Given the description of an element on the screen output the (x, y) to click on. 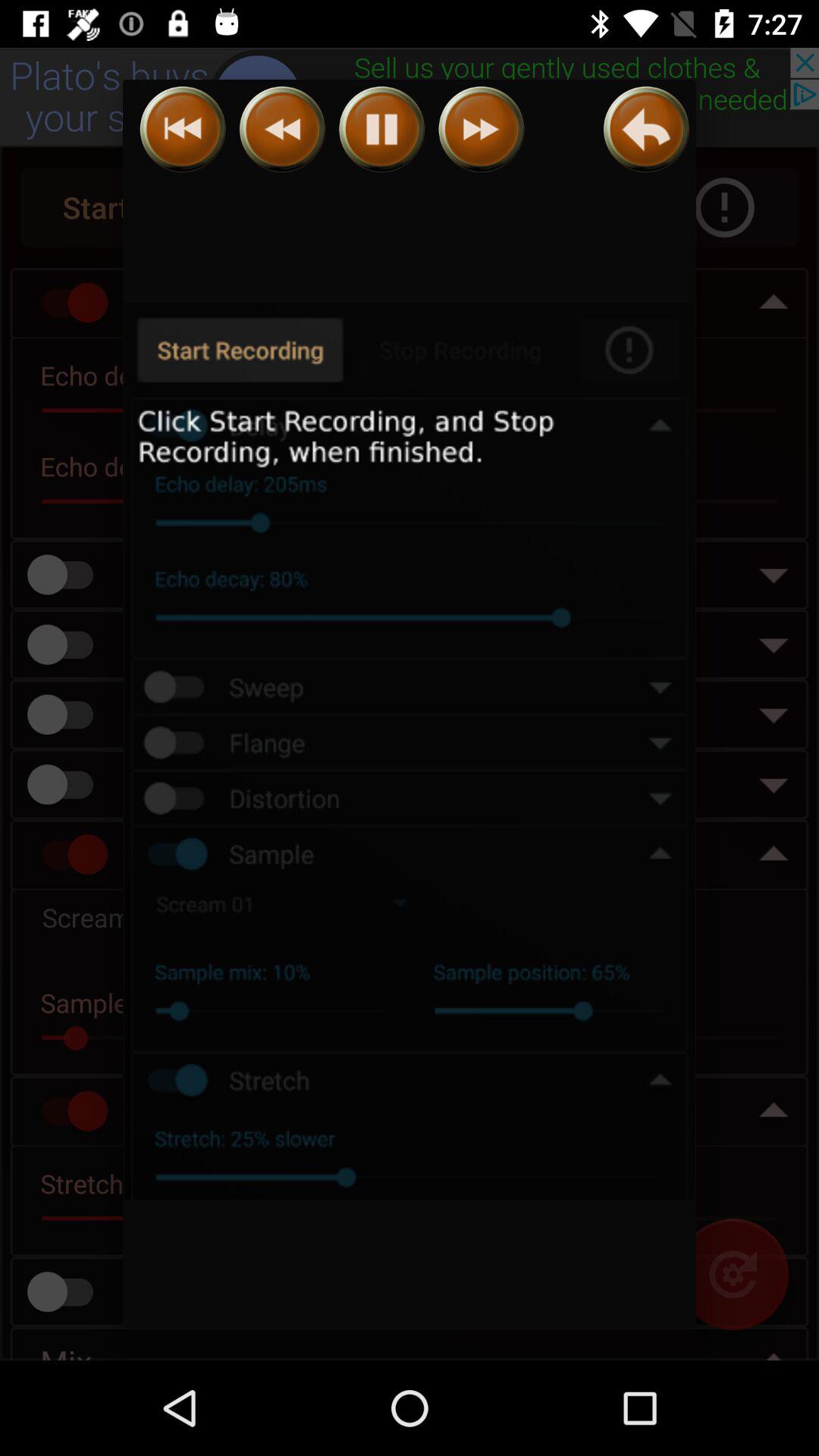
go back (646, 129)
